Given the description of an element on the screen output the (x, y) to click on. 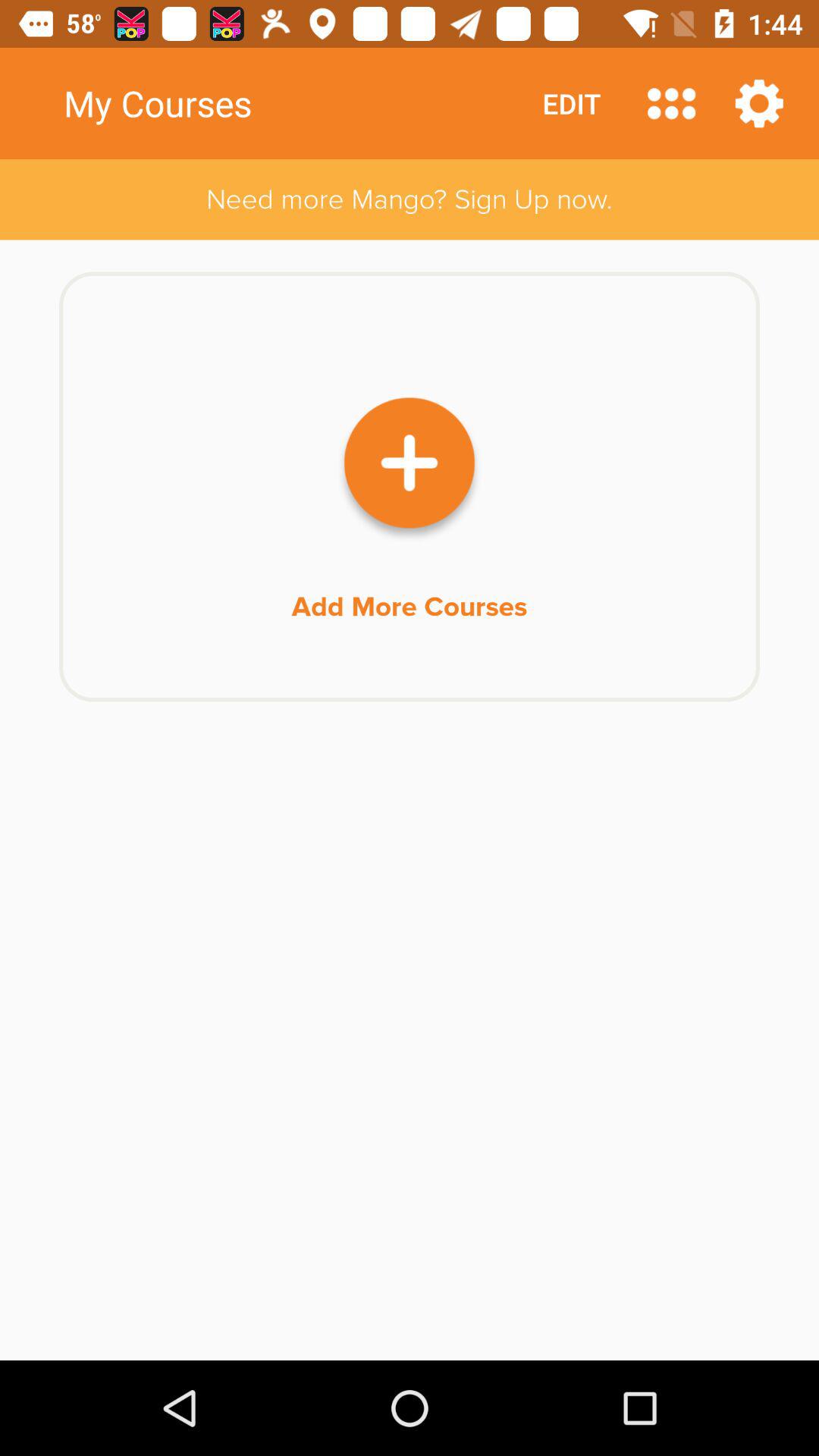
another options (671, 103)
